Given the description of an element on the screen output the (x, y) to click on. 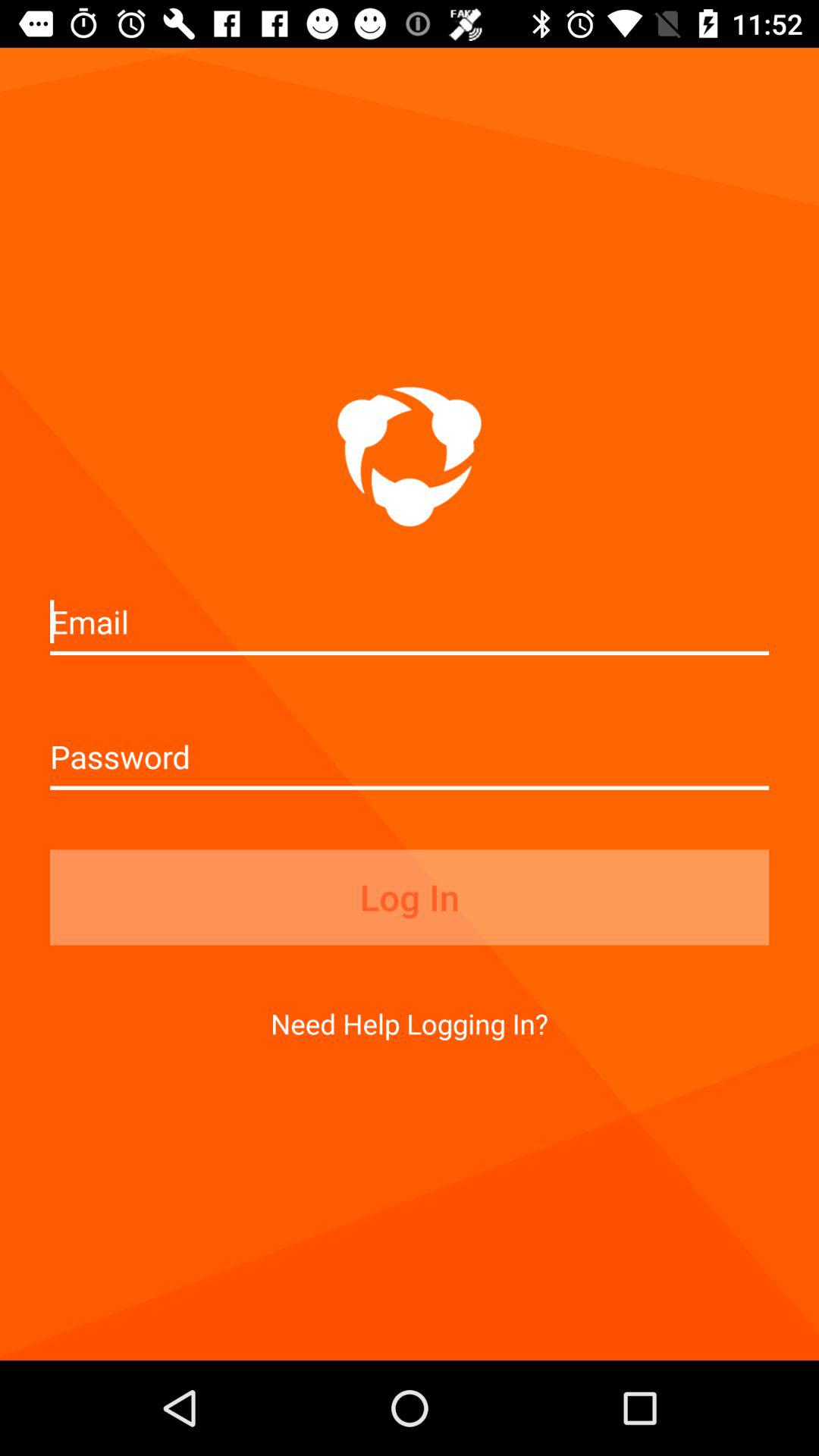
select the icon below log in (409, 1023)
